Given the description of an element on the screen output the (x, y) to click on. 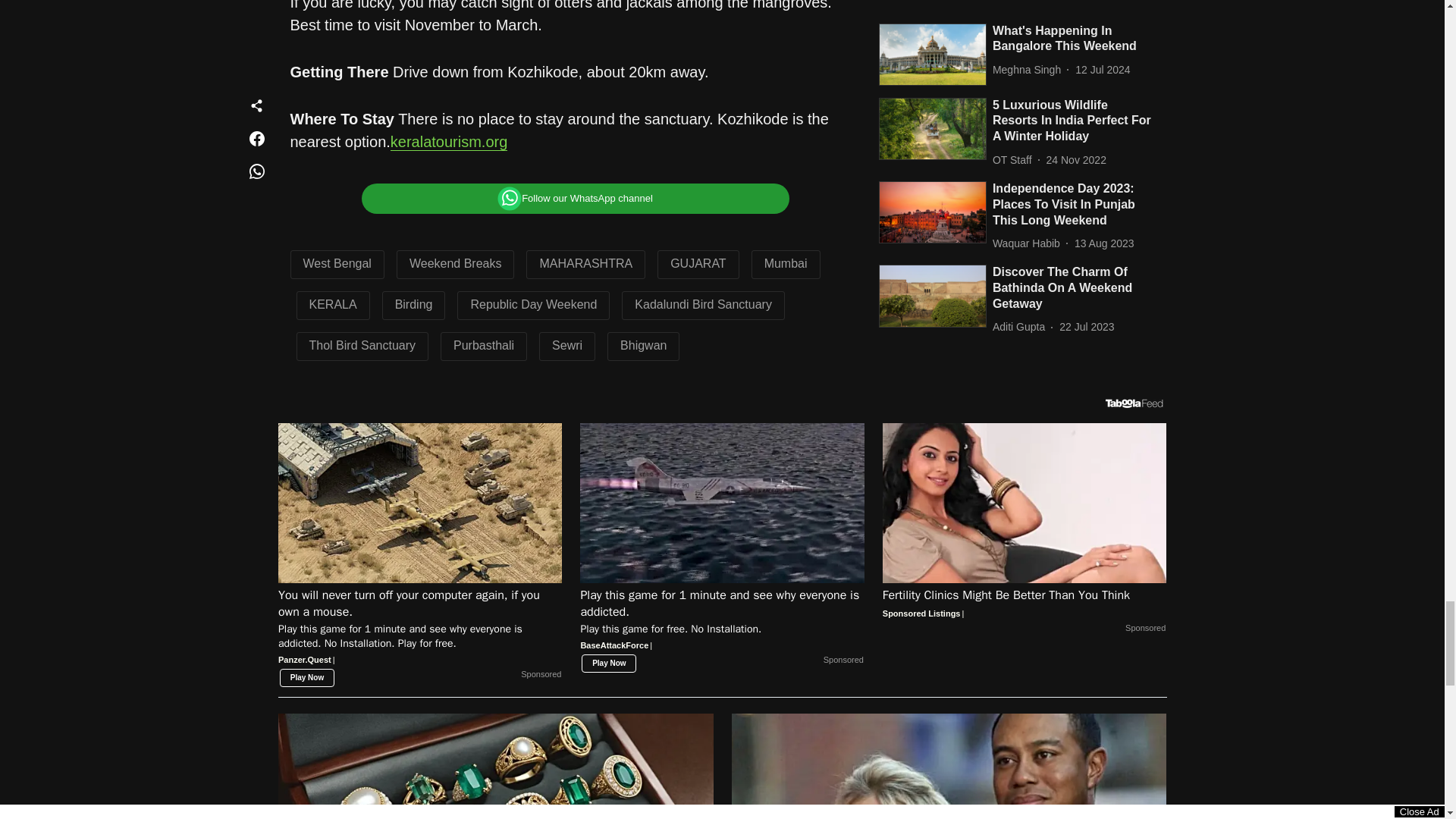
Fertility Clinics Might Be Better Than You Think (1024, 503)
keralatourism.org (449, 141)
Fertility Clinics Might Be Better Than You Think (1024, 604)
"Description: Play this game for free. No Installation." (721, 628)
Follow our WhatsApp channel (575, 198)
